Given the description of an element on the screen output the (x, y) to click on. 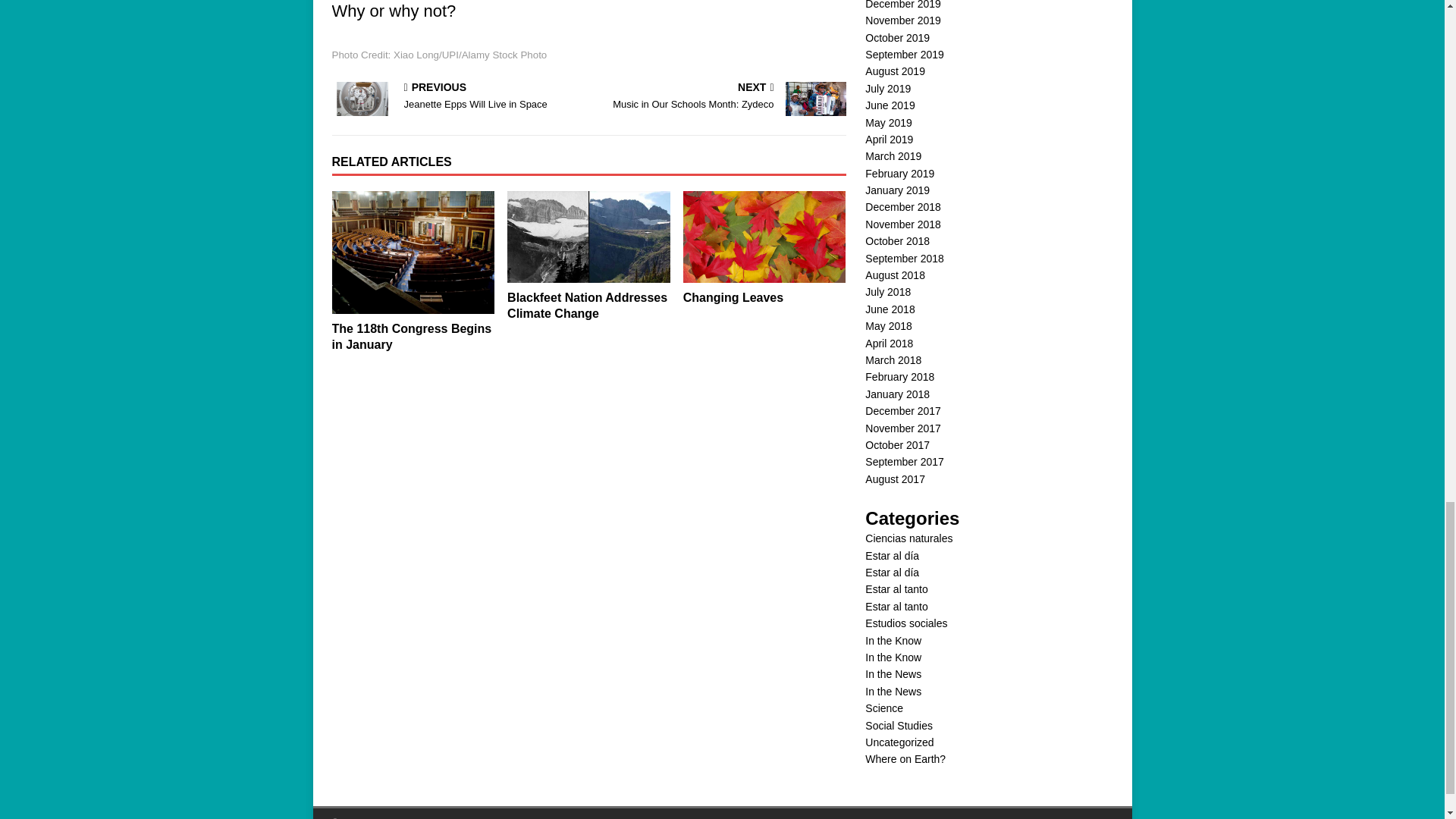
The 118th Congress Begins in January (411, 336)
The 118th Congress Begins in January (411, 336)
Blackfeet Nation Addresses Climate Change (586, 305)
Changing Leaves (763, 236)
Changing Leaves (720, 97)
Blackfeet Nation Addresses Climate Change (732, 297)
Changing Leaves (587, 236)
Blackfeet Nation Addresses Climate Change (732, 297)
The 118th Congress Begins in January (586, 305)
